Given the description of an element on the screen output the (x, y) to click on. 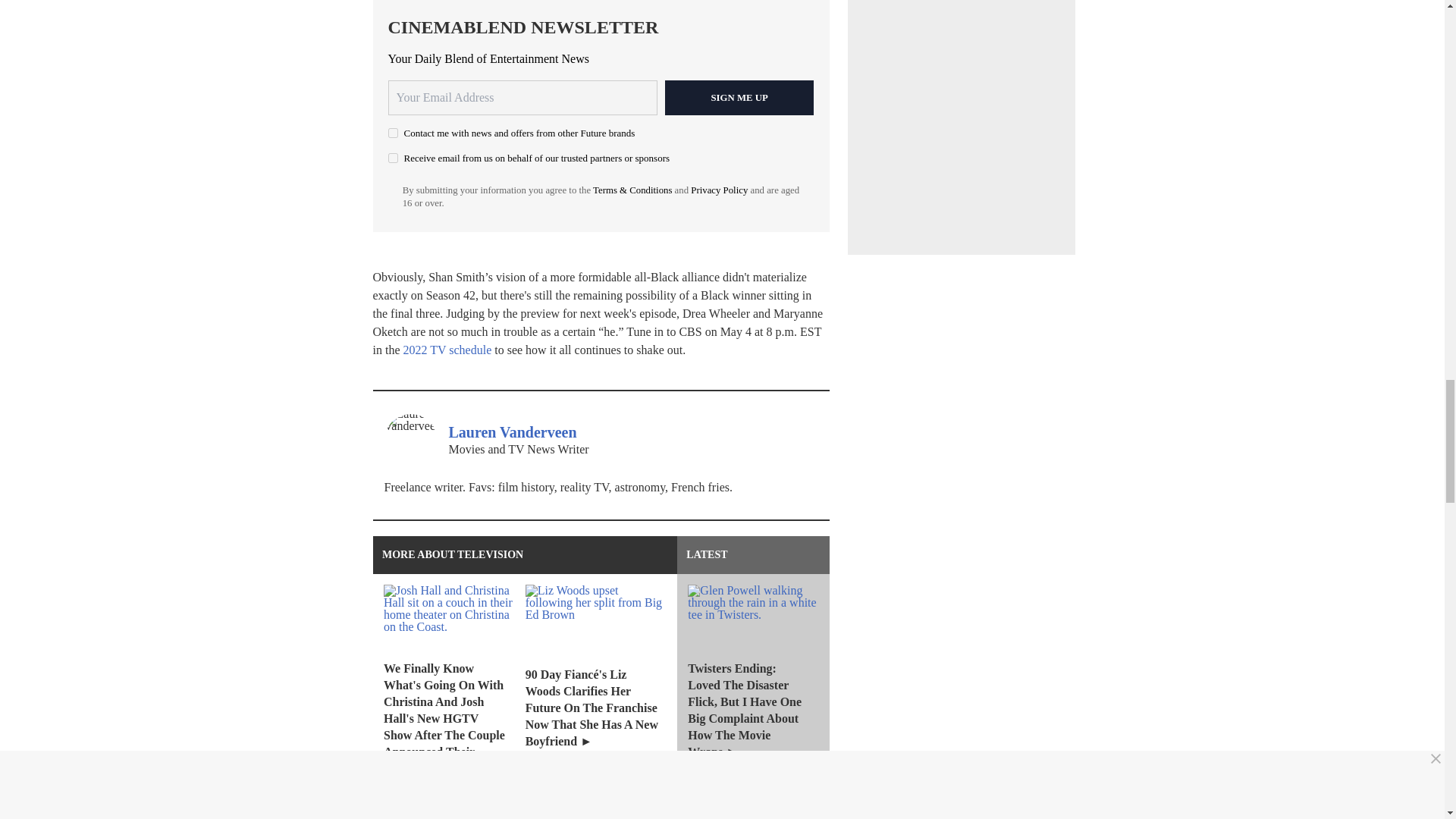
on (392, 132)
Sign me up (739, 97)
on (392, 157)
